Given the description of an element on the screen output the (x, y) to click on. 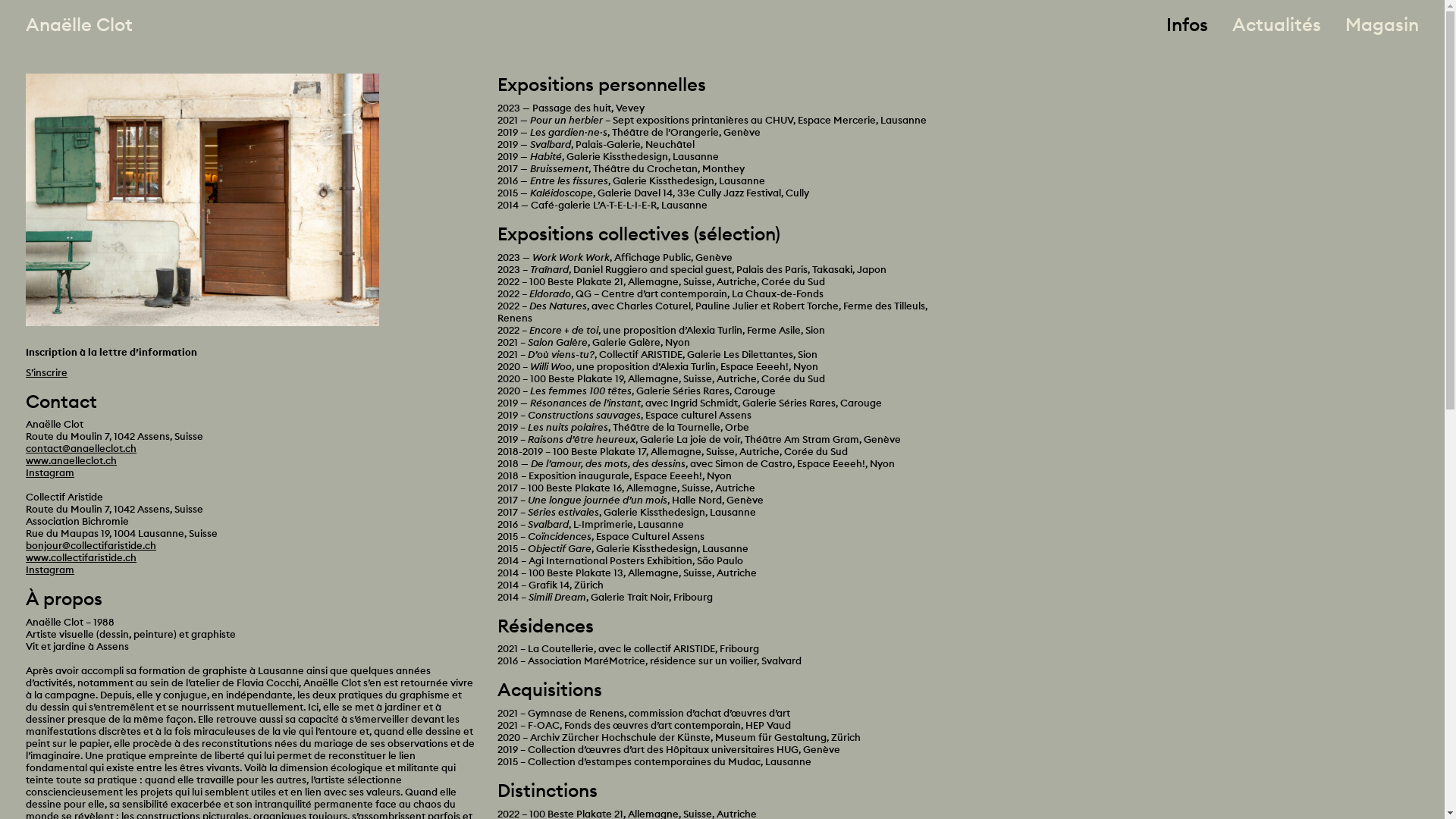
www.anaelleclot.ch Element type: text (70, 460)
contact@anaelleclot.ch Element type: text (80, 448)
www.collectifaristide.ch Element type: text (80, 557)
Instagram Element type: text (49, 472)
bonjour@collectifaristide.ch Element type: text (90, 545)
Instagram Element type: text (49, 569)
Magasin Element type: text (1381, 24)
Infos Element type: text (1187, 24)
